Given the description of an element on the screen output the (x, y) to click on. 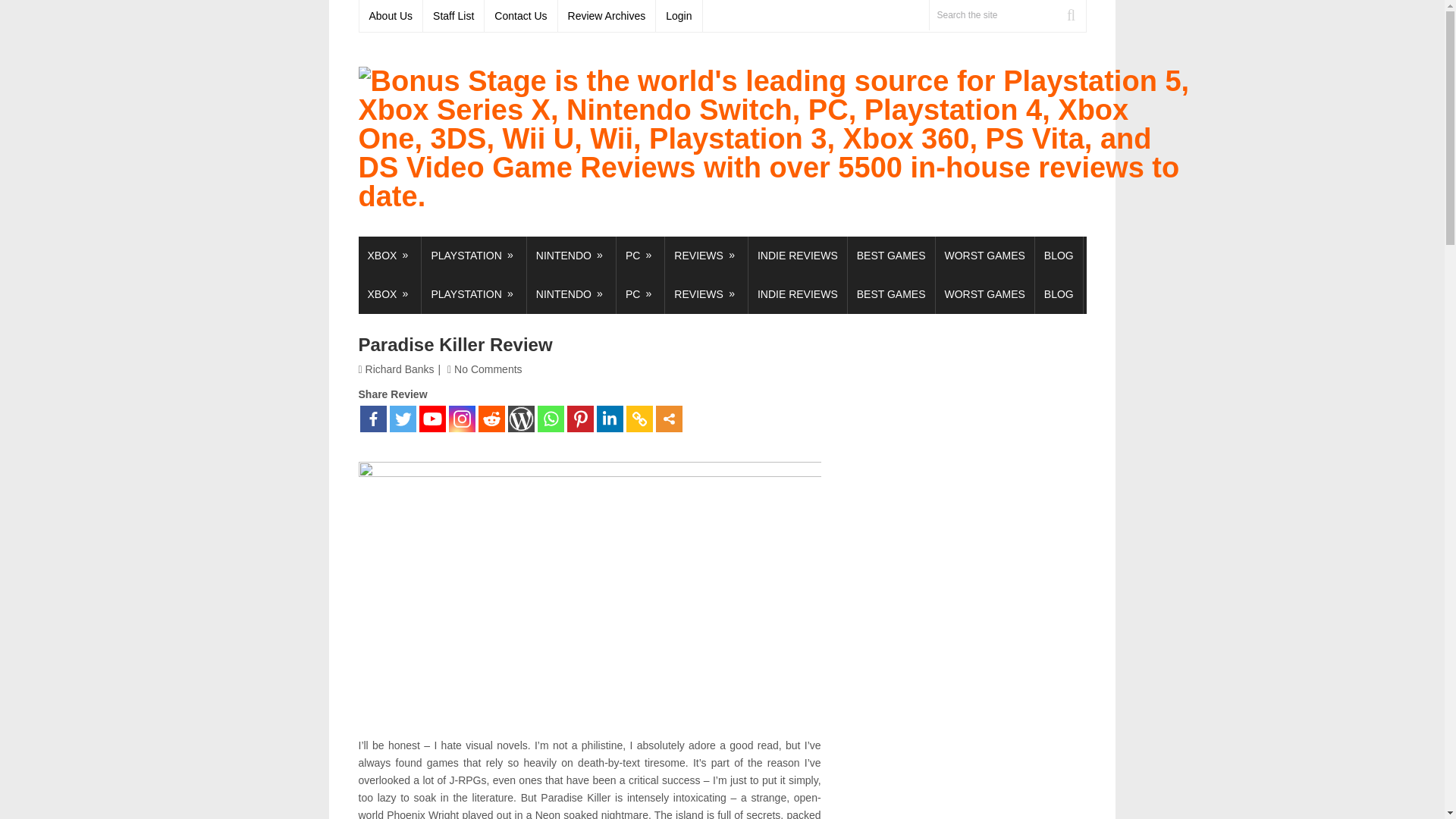
Review Archives (606, 15)
XBOX (389, 255)
Login (678, 15)
PLAYSTATION (473, 255)
PC (639, 255)
REVIEWS (706, 255)
Contact Us (520, 15)
About Us (391, 15)
NINTENDO (571, 255)
Staff List (453, 15)
